Given the description of an element on the screen output the (x, y) to click on. 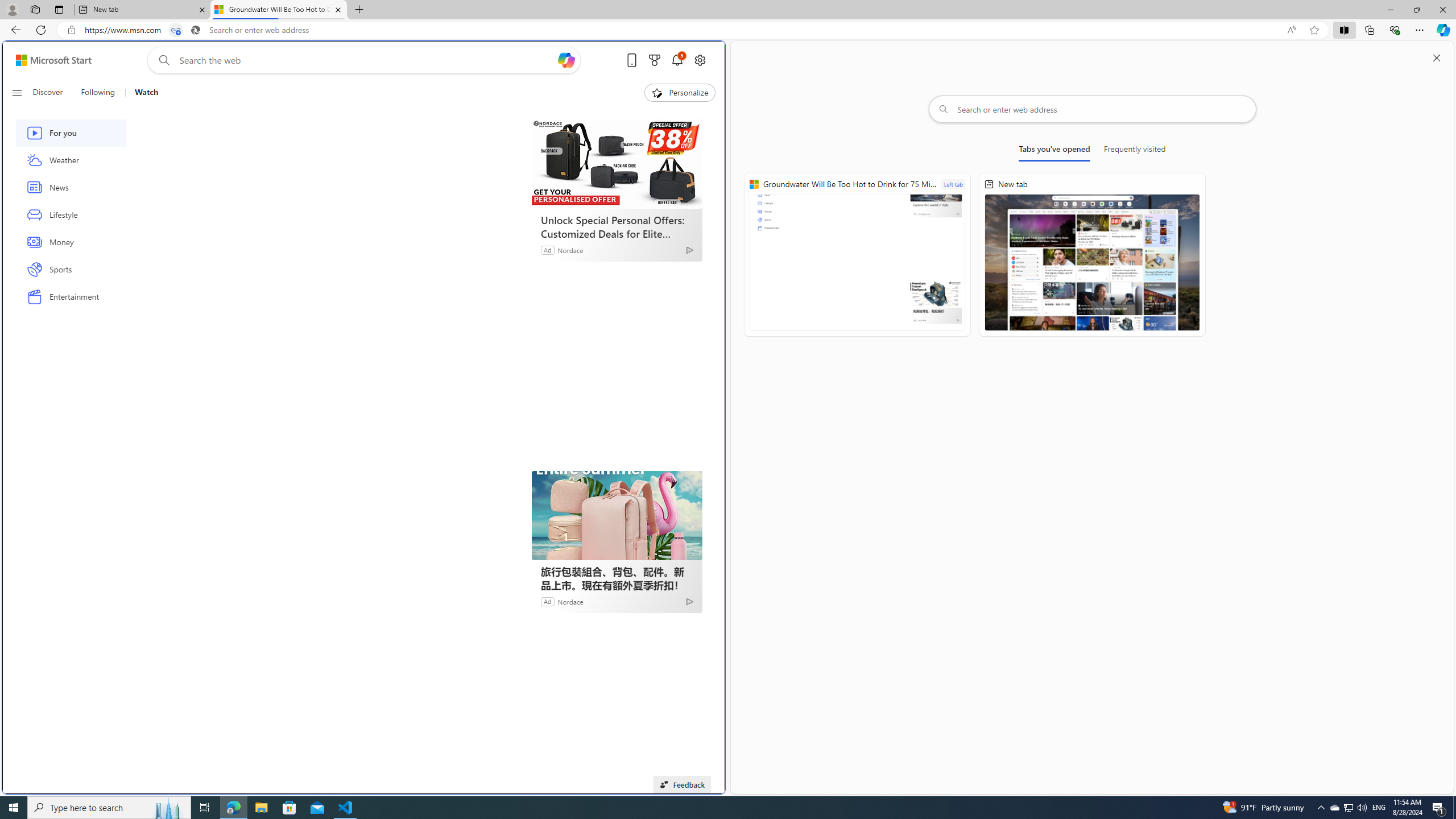
Search or enter web address (1092, 108)
To get missing image descriptions, open the context menu. (656, 92)
Search icon (195, 29)
Close split screen (1436, 57)
Tabs you've opened (1054, 151)
Microsoft rewards (654, 60)
